Given the description of an element on the screen output the (x, y) to click on. 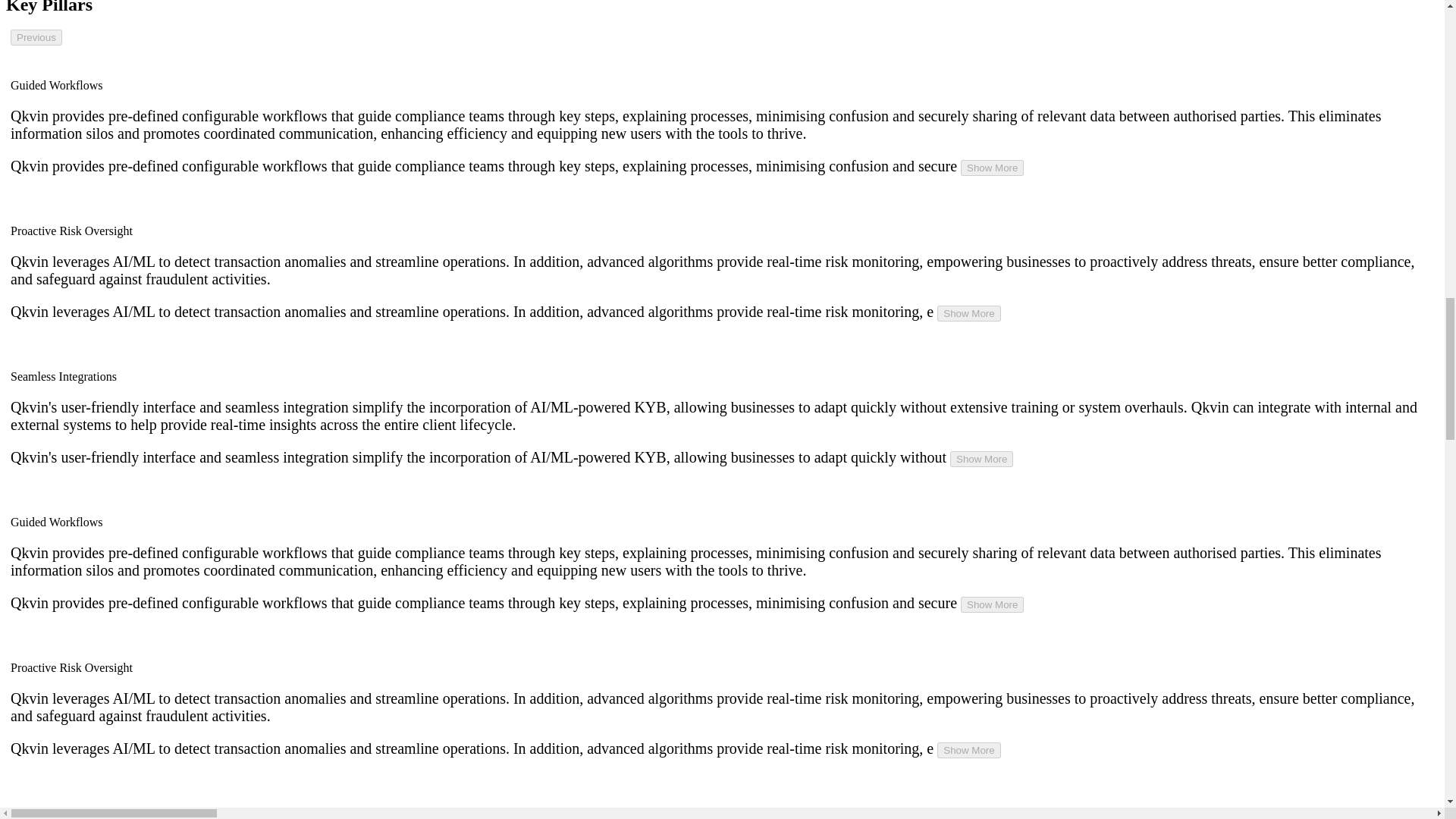
Show More (991, 167)
Show More (968, 313)
Previous (36, 37)
Show More (991, 604)
Show More (981, 458)
